Given the description of an element on the screen output the (x, y) to click on. 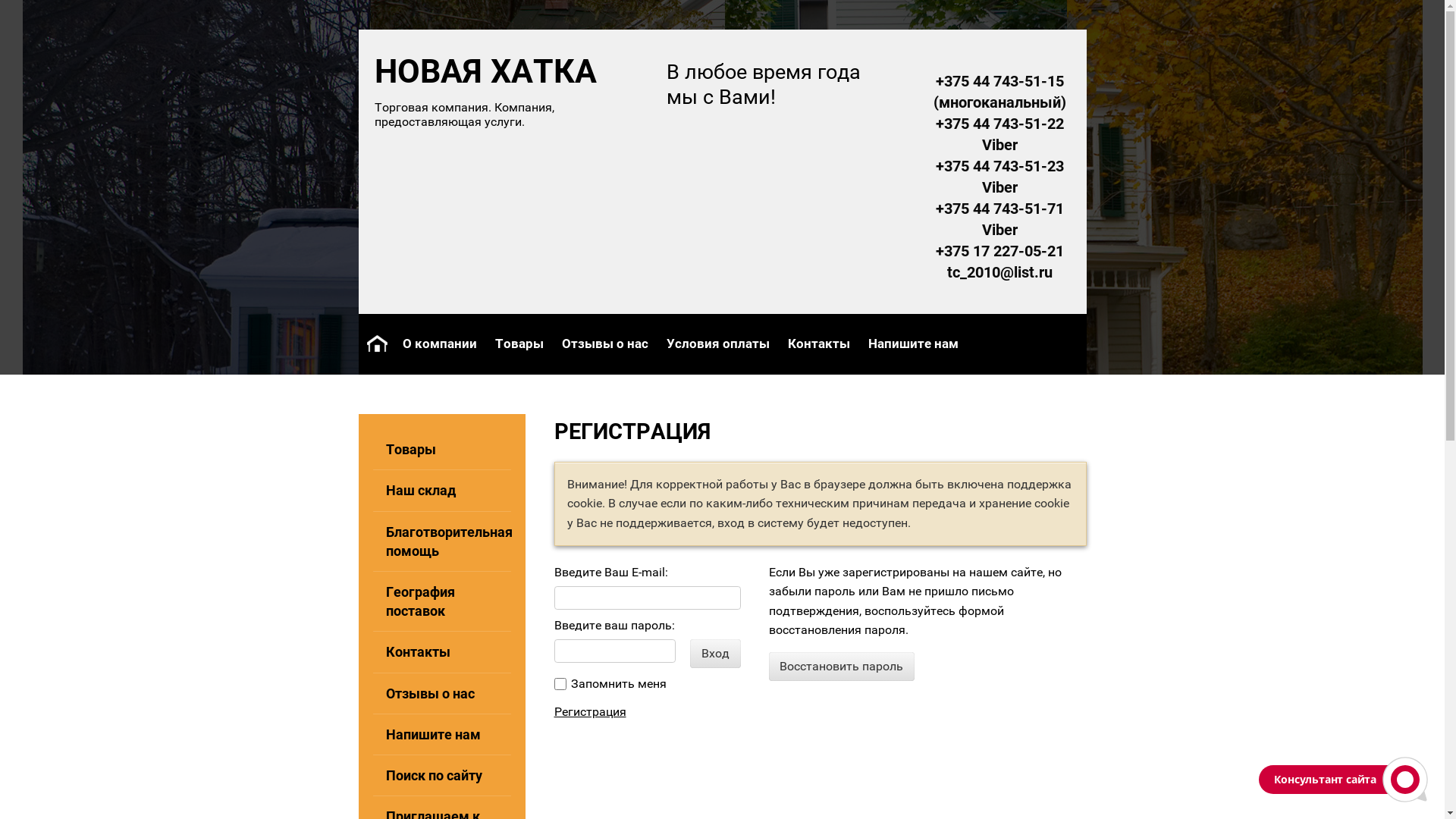
tc_2010@list.ru Element type: text (999, 272)
0 Element type: text (559, 683)
+375 44 743-51-71 Viber Element type: text (999, 218)
+375 44 743-51-22 Viber Element type: text (999, 133)
+375 17 227-05-21 Element type: text (999, 250)
+375 44 743-51-23 Viber Element type: text (999, 176)
